Given the description of an element on the screen output the (x, y) to click on. 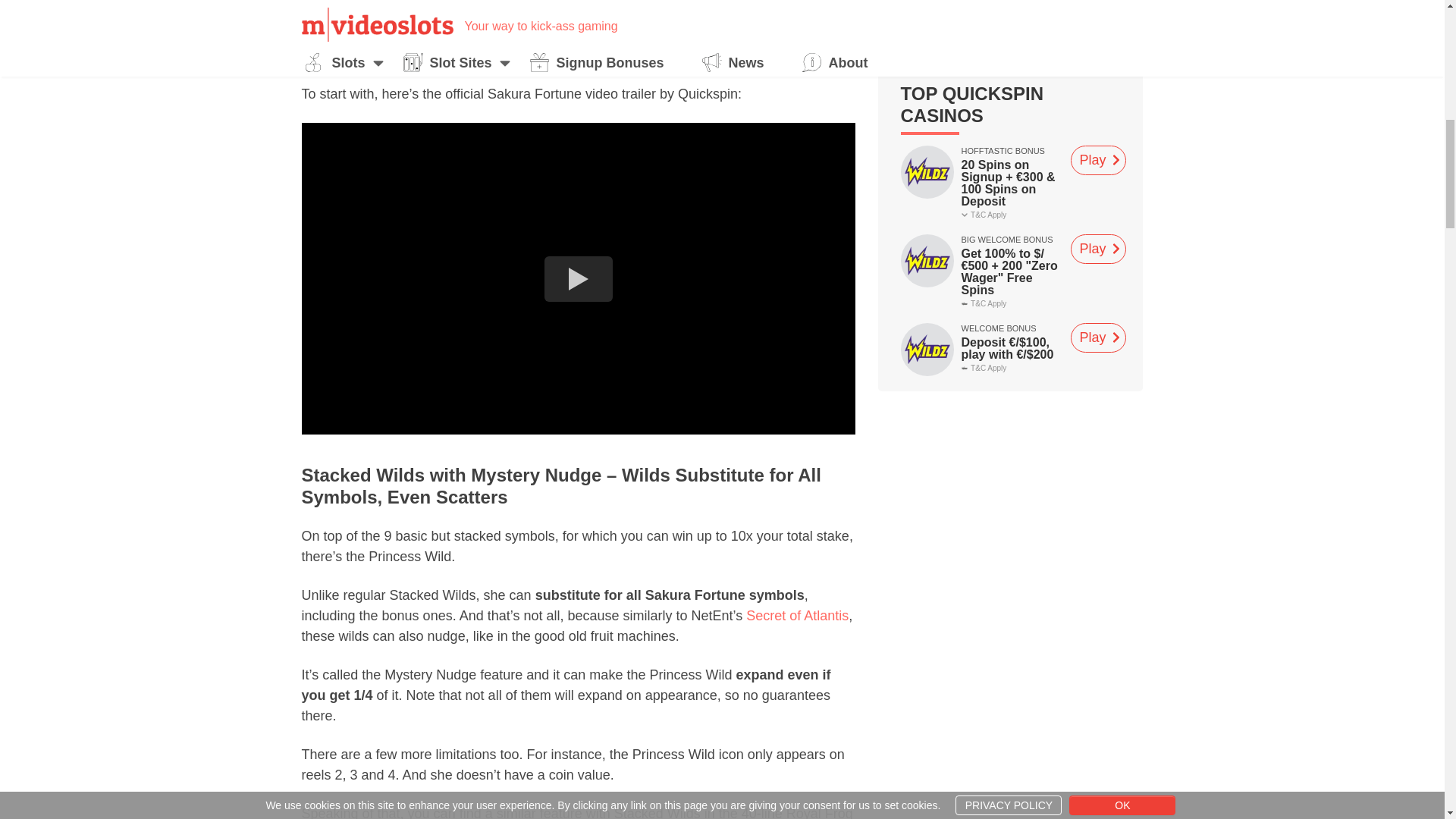
House of Jack (1097, 225)
Wheelz (1097, 137)
Unibet (1097, 315)
